Given the description of an element on the screen output the (x, y) to click on. 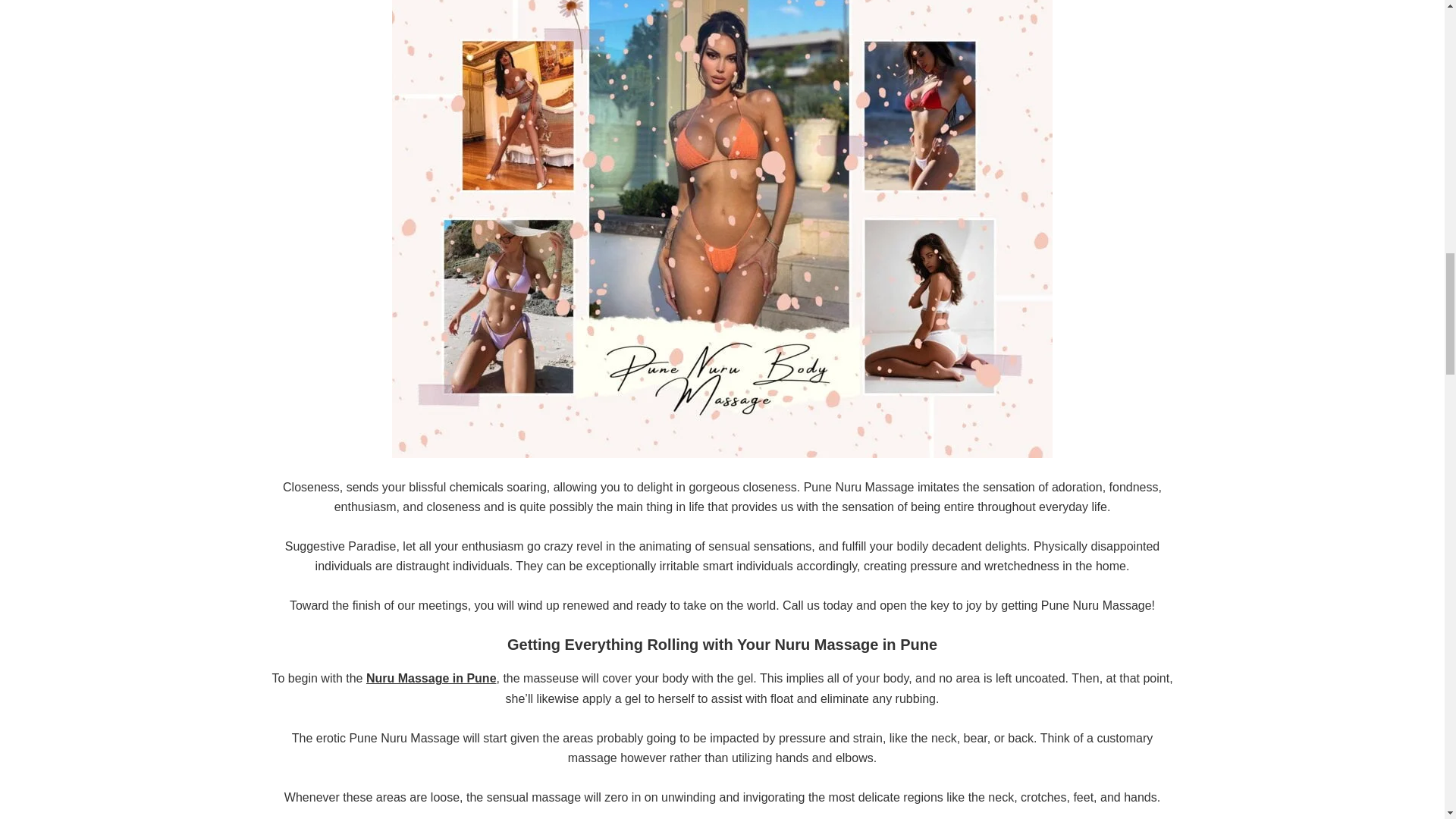
Nuru Massage in Pune (431, 677)
